Given the description of an element on the screen output the (x, y) to click on. 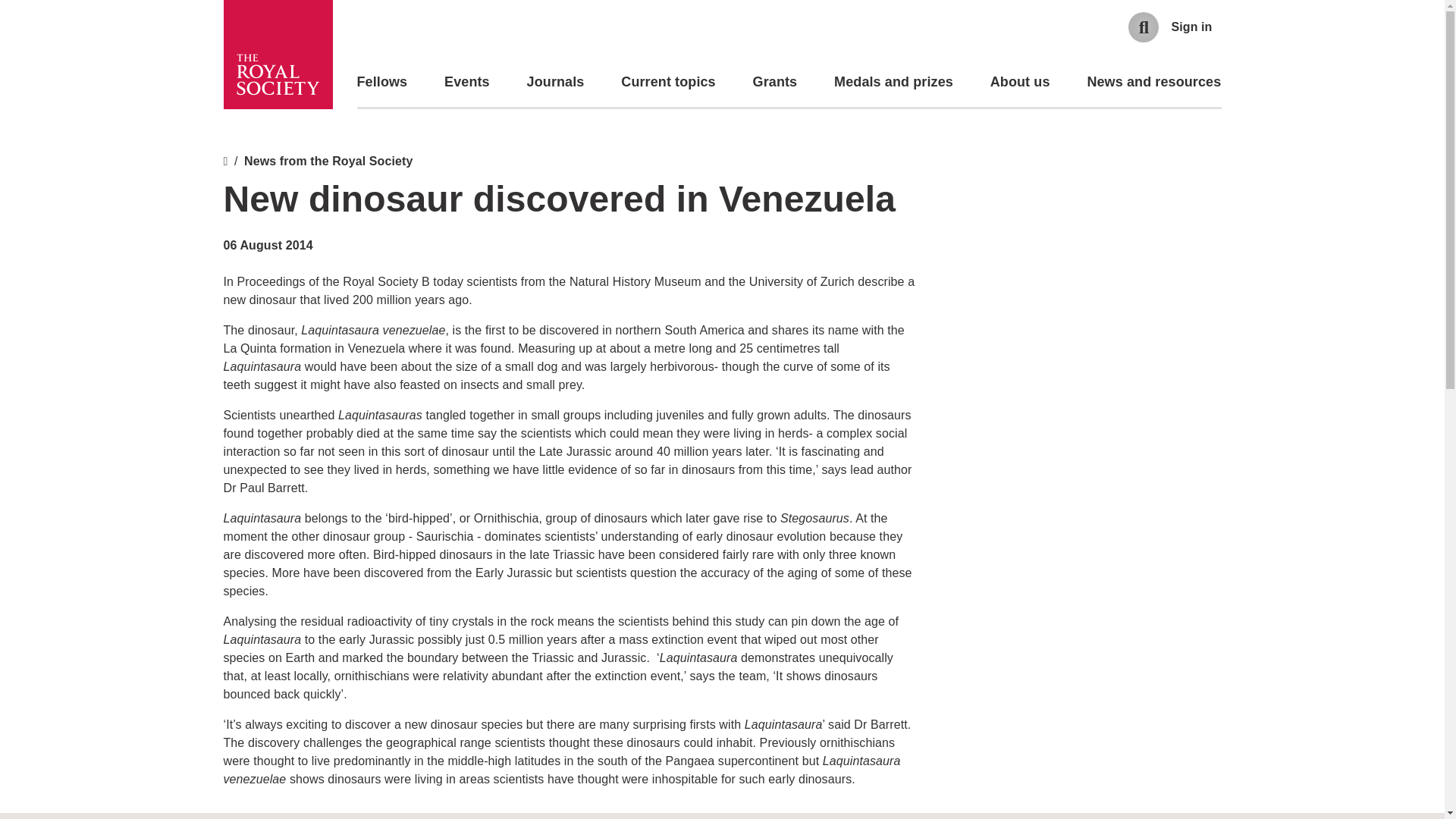
Fellows (381, 81)
Journals (556, 81)
Current topics (667, 81)
